Given the description of an element on the screen output the (x, y) to click on. 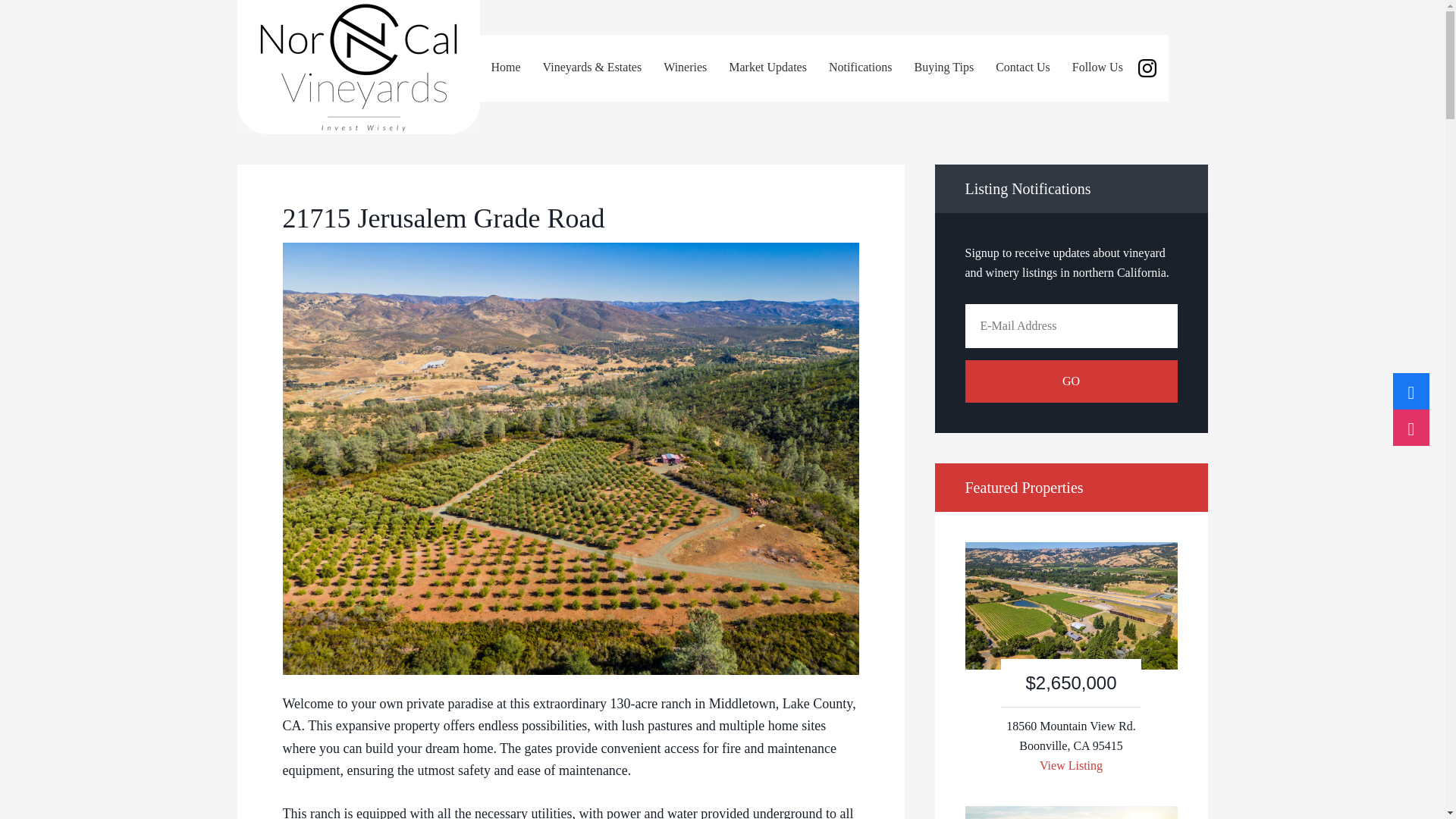
Wineries (684, 66)
Norcalvineyards.com (357, 67)
Market Updates (766, 66)
Notifications (859, 66)
Buying Tips (943, 66)
Follow Us (1114, 68)
Contact Us (1022, 66)
Go (1069, 381)
